Given the description of an element on the screen output the (x, y) to click on. 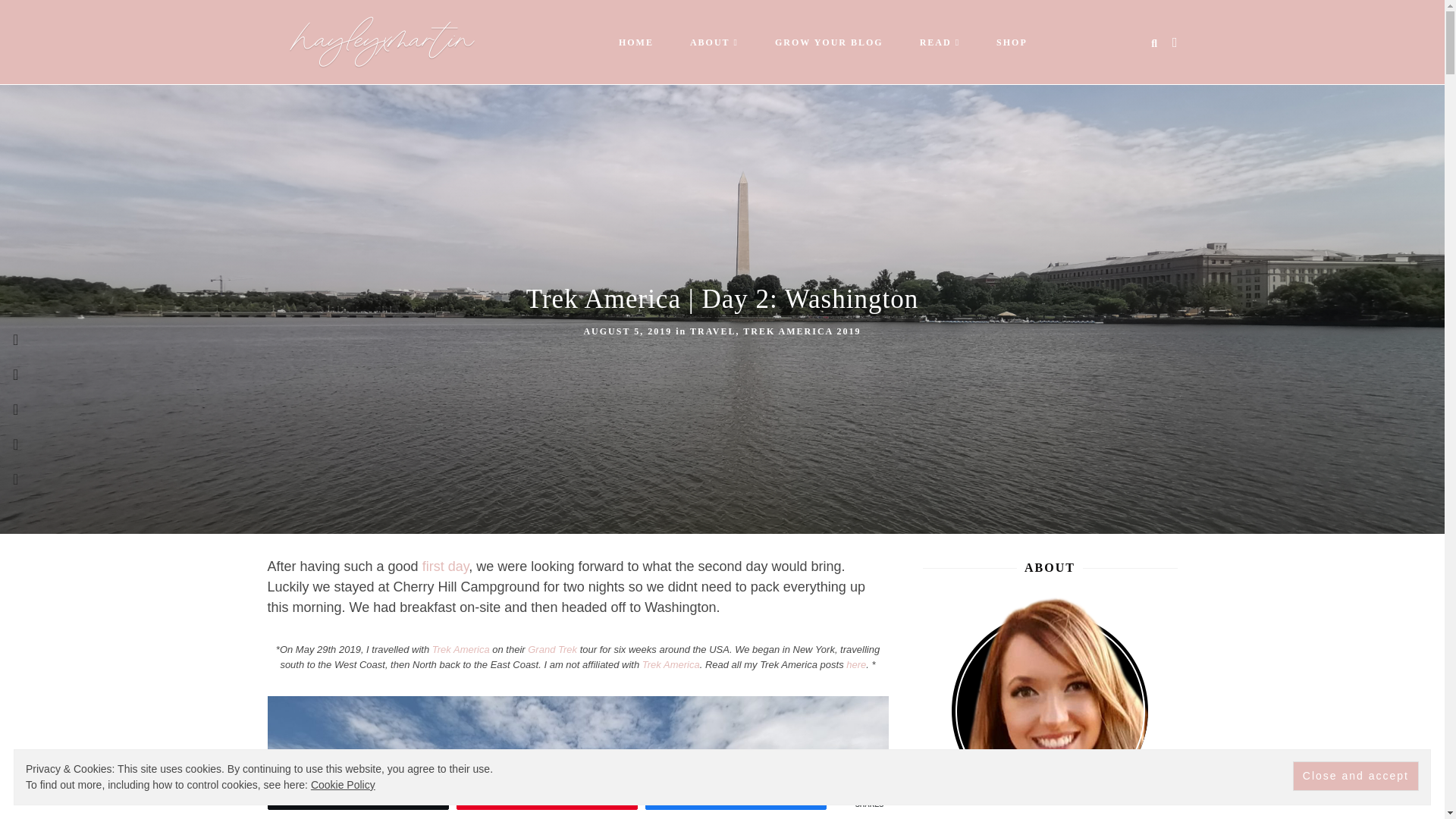
HAYLEYXMARTIN (422, 41)
Close and accept (1355, 776)
ABOUT (710, 41)
GROW YOUR BLOG (828, 41)
